Given the description of an element on the screen output the (x, y) to click on. 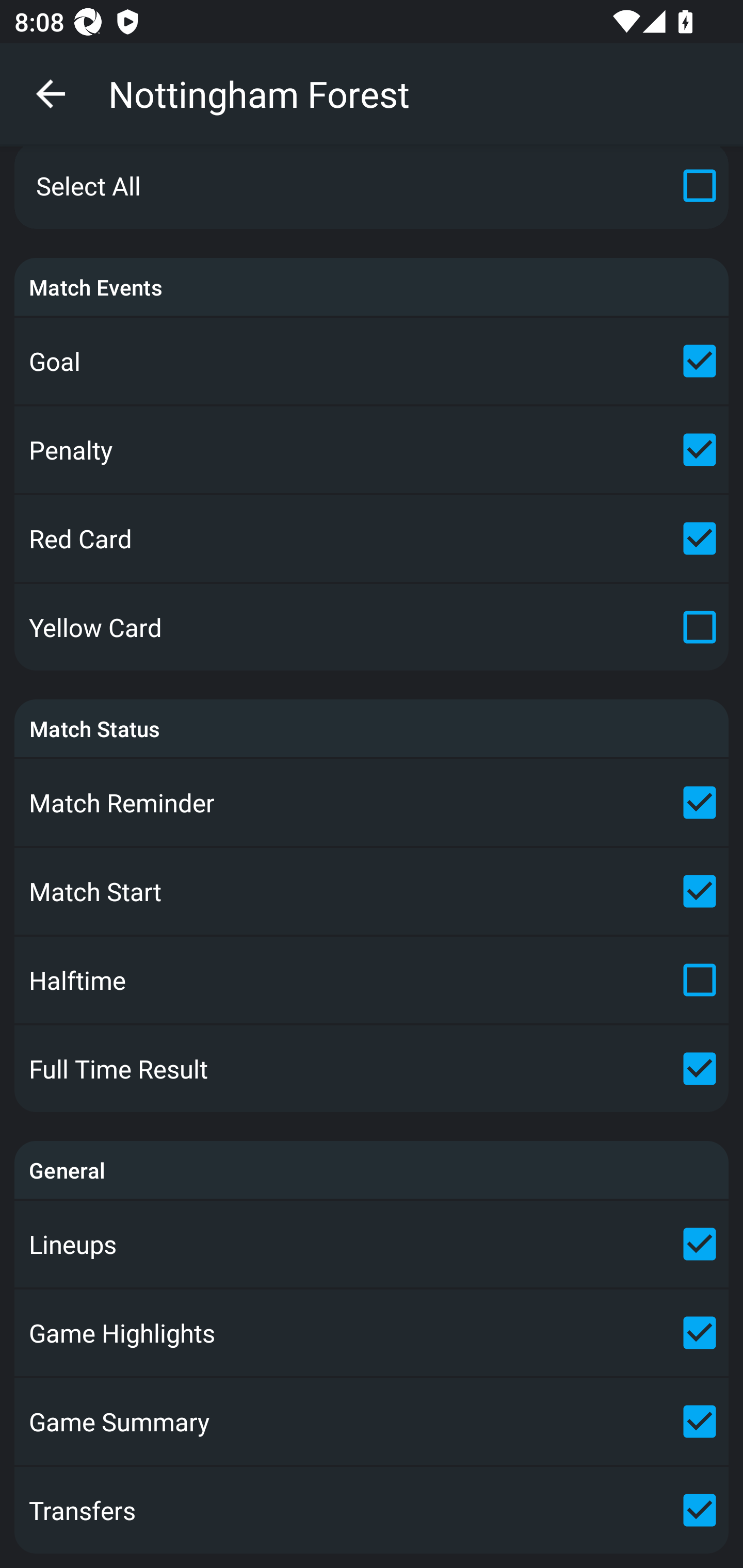
Navigate up (50, 93)
Goal (371, 361)
Penalty (371, 449)
Red Card (371, 538)
Yellow Card (371, 627)
Match Reminder (371, 801)
Match Start (371, 891)
Halftime (371, 979)
Full Time Result (371, 1068)
Lineups (371, 1244)
Game Highlights (371, 1332)
Game Summary (371, 1421)
Transfers (371, 1510)
